Given the description of an element on the screen output the (x, y) to click on. 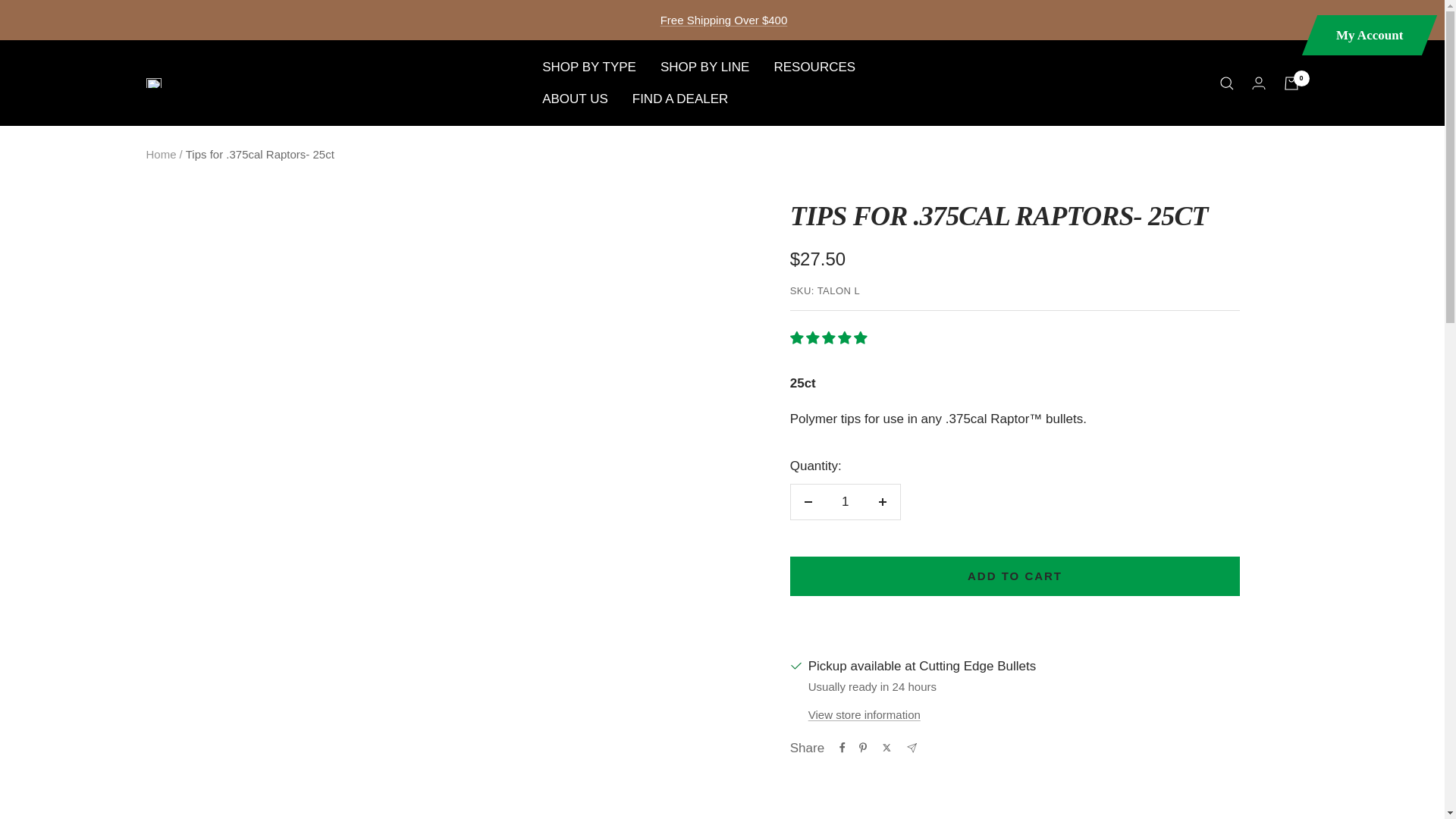
SHOP BY LINE (705, 66)
1 (844, 501)
SHOP BY TYPE (588, 66)
Cutting Edge Bullets (152, 81)
My Account (1361, 35)
RESOURCES (814, 66)
FIND A DEALER (680, 98)
ABOUT US (574, 98)
0 (1291, 83)
